Given the description of an element on the screen output the (x, y) to click on. 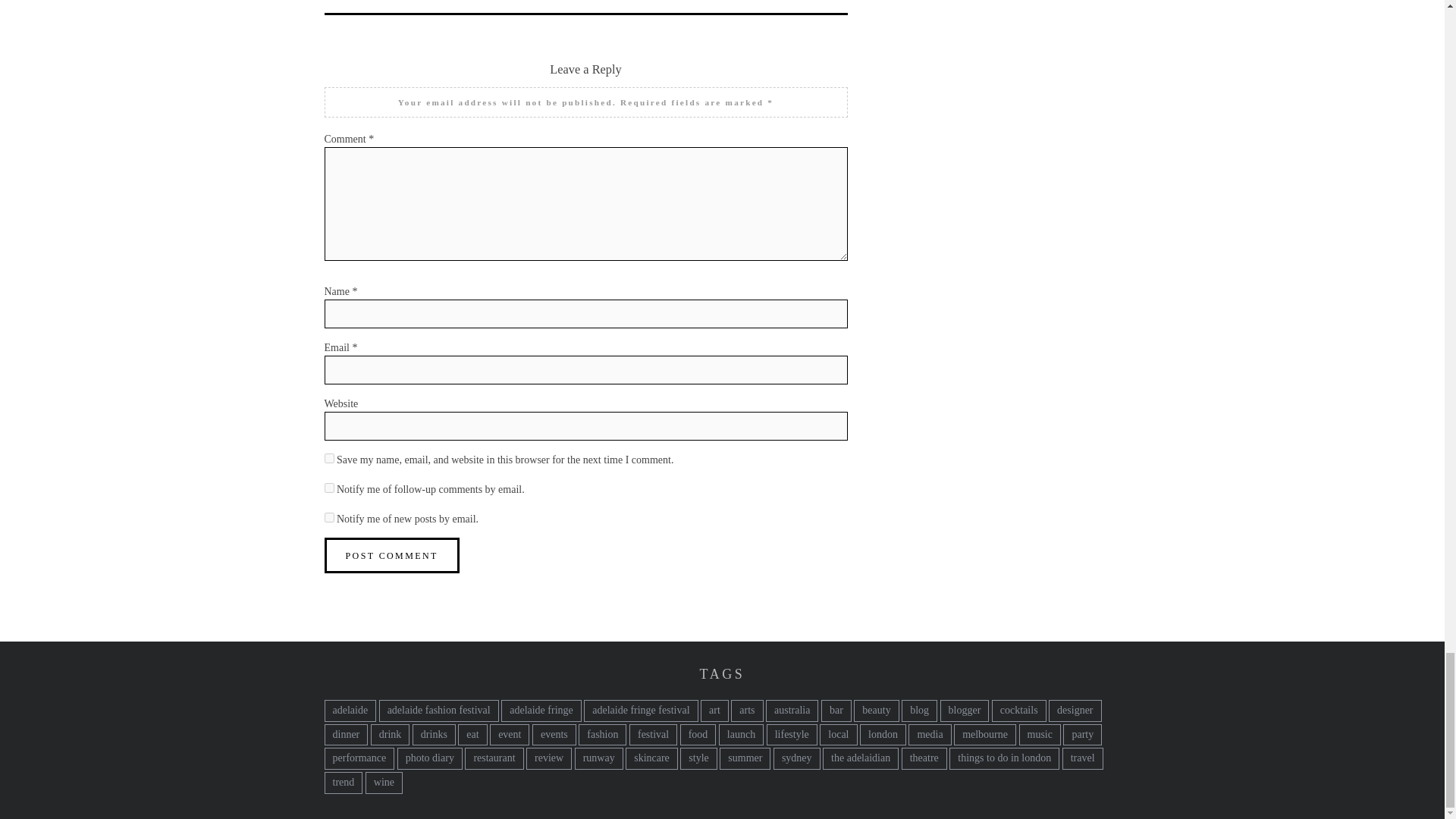
Post Comment (392, 555)
subscribe (329, 517)
yes (329, 458)
subscribe (329, 488)
